Given the description of an element on the screen output the (x, y) to click on. 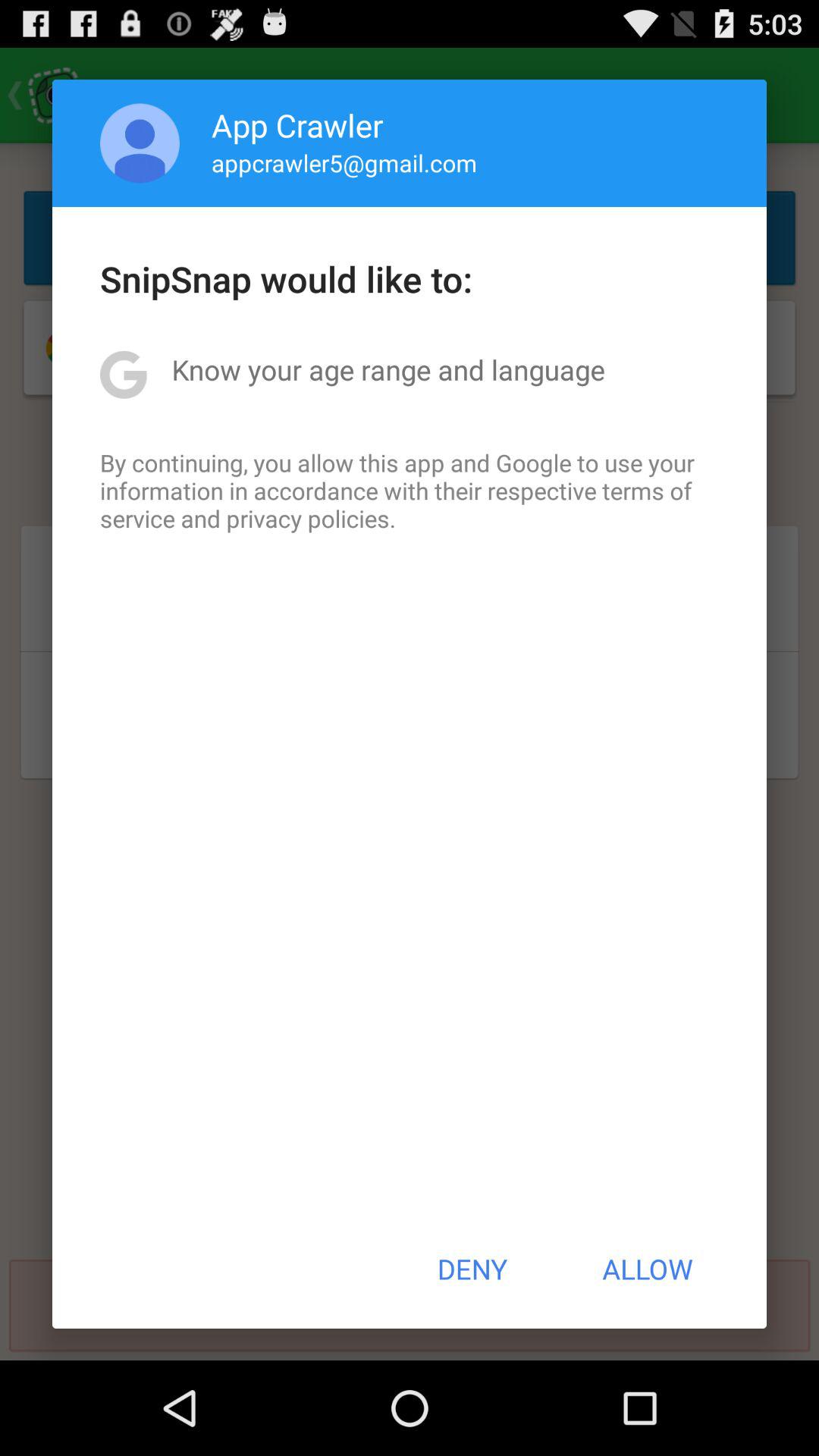
select app to the left of app crawler icon (139, 143)
